Given the description of an element on the screen output the (x, y) to click on. 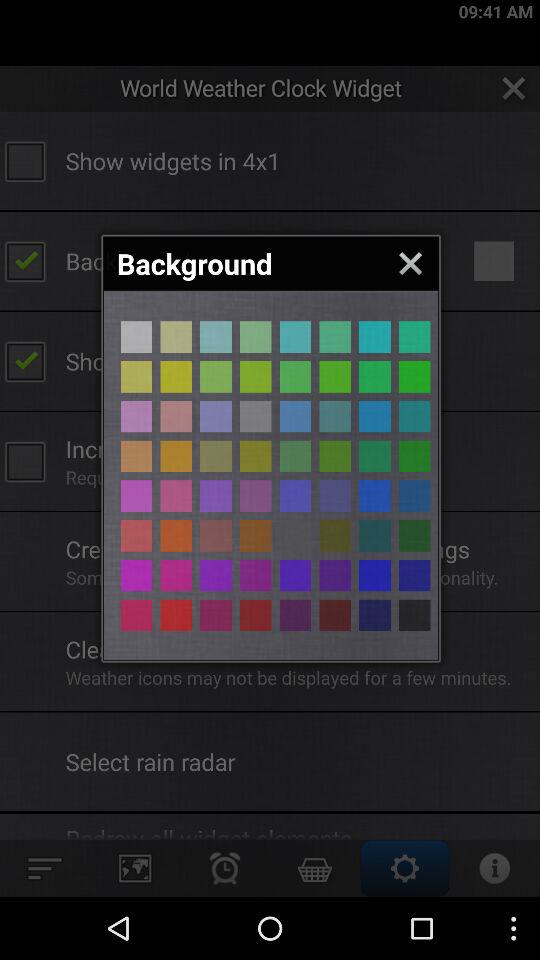
choose that color (295, 495)
